Given the description of an element on the screen output the (x, y) to click on. 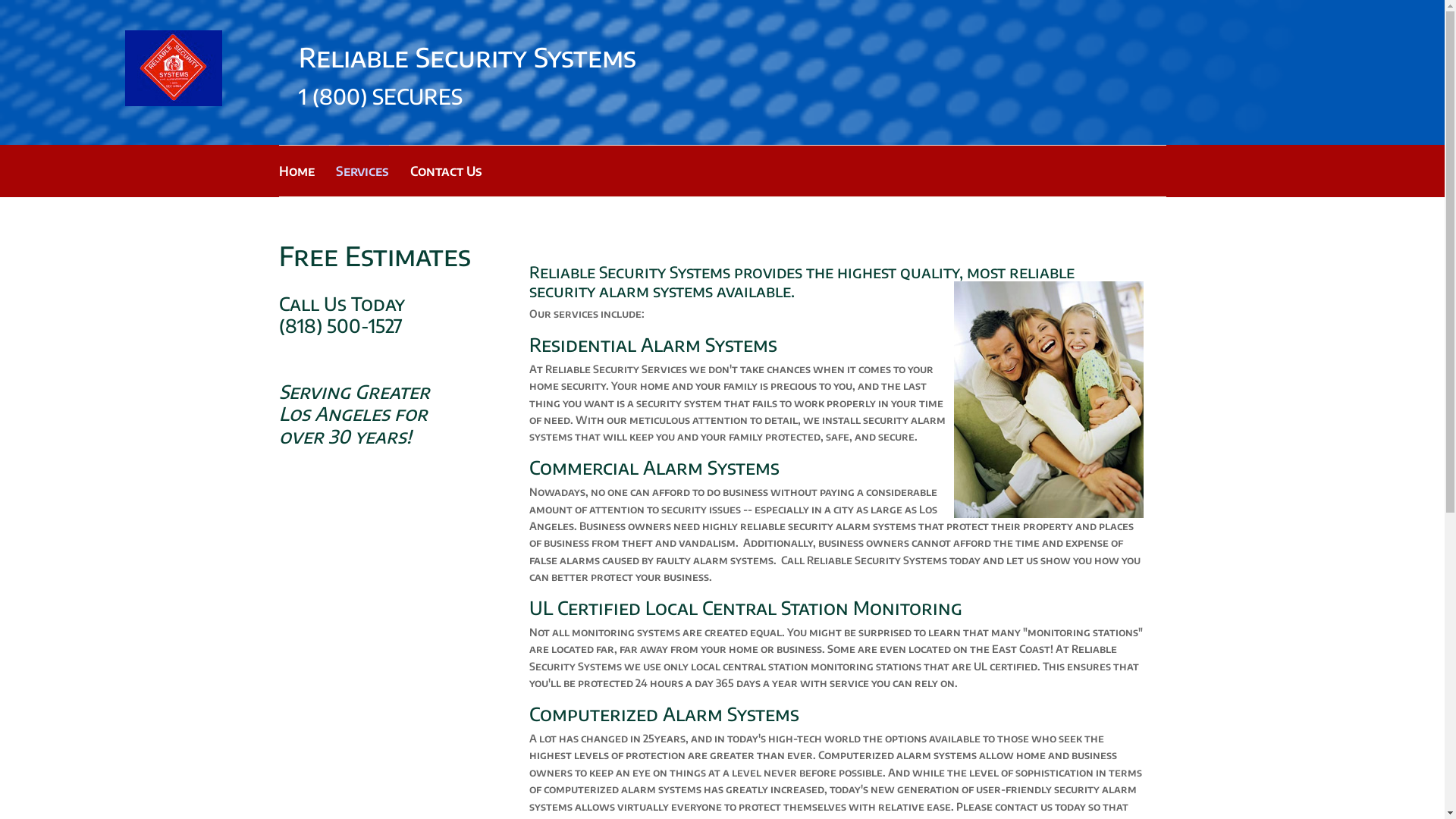
Contact Us Element type: text (445, 170)
Services Element type: text (361, 170)
Home Element type: text (296, 170)
Reliable Security Systems Element type: hover (173, 68)
